Given the description of an element on the screen output the (x, y) to click on. 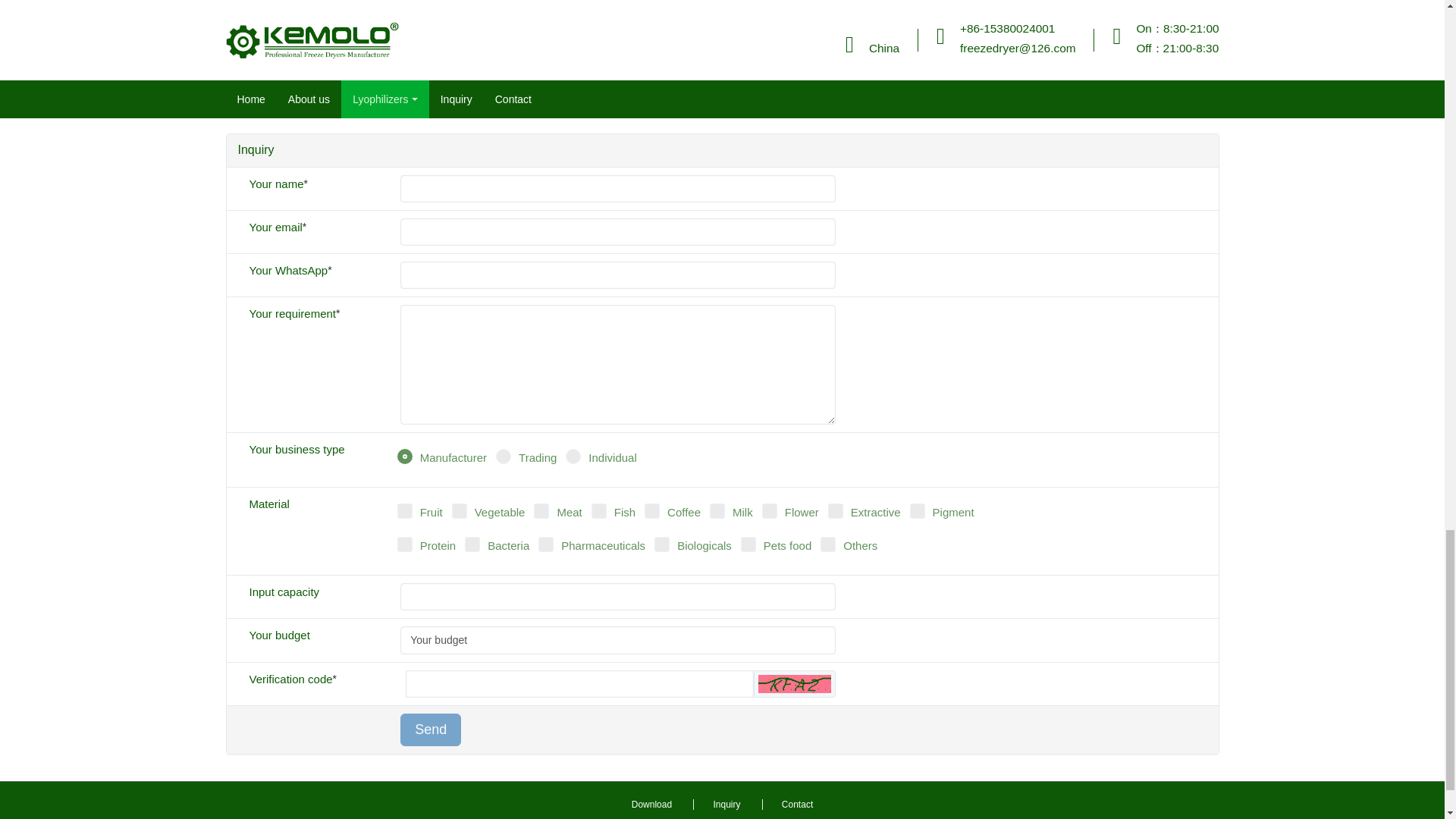
Download (651, 804)
fruit freeze dryer (337, 47)
Contact (796, 804)
Download (651, 804)
Inquiry (725, 804)
Contact (796, 804)
Can (794, 683)
Inquiry (725, 804)
Send (430, 729)
fruit freeze dryer (337, 47)
